Given the description of an element on the screen output the (x, y) to click on. 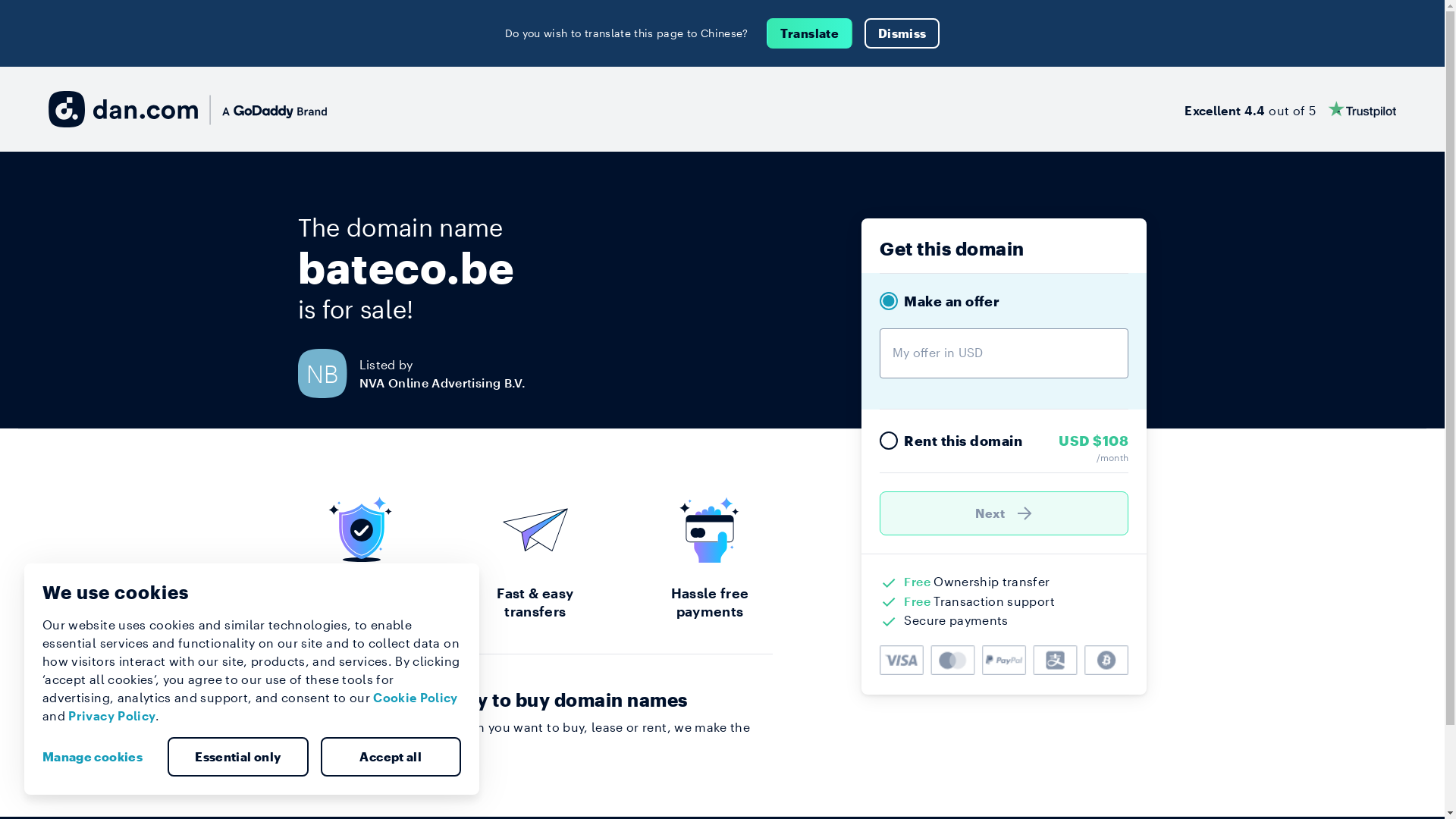
Next
) Element type: text (1003, 513)
Excellent 4.4 out of 5 Element type: text (1290, 109)
Manage cookies Element type: text (98, 756)
Privacy Policy Element type: text (111, 715)
Translate Element type: text (809, 33)
Cookie Policy Element type: text (415, 697)
Essential only Element type: text (237, 756)
Accept all Element type: text (390, 756)
Dismiss Element type: text (901, 33)
